Given the description of an element on the screen output the (x, y) to click on. 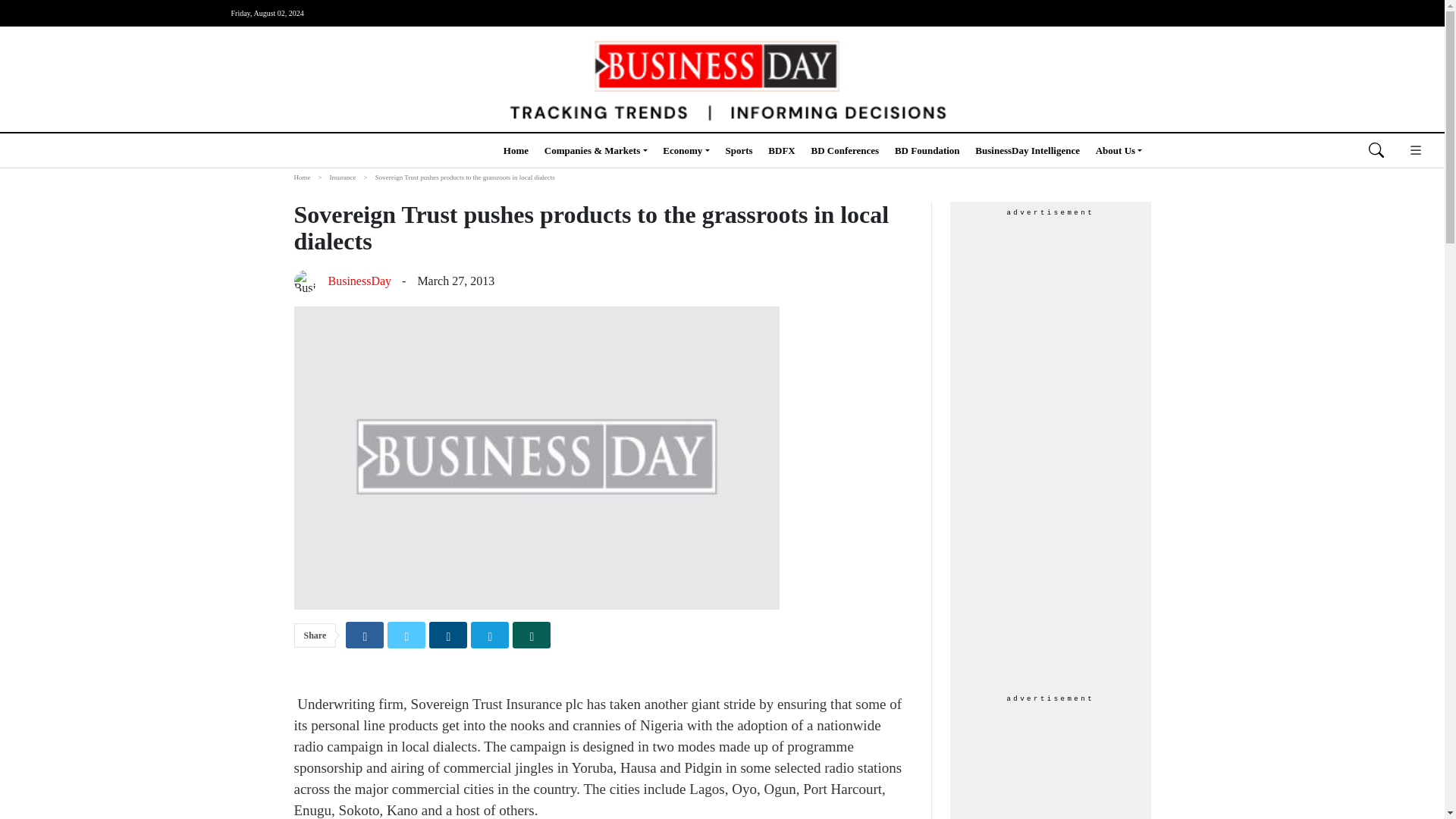
BD Foundation (927, 149)
About Us (1119, 149)
BD Conferences (844, 149)
BD Foundation (927, 149)
Economy (685, 149)
BD Conferences (844, 149)
BusinessDay Intelligence (1027, 149)
About Us (1119, 149)
Economy (685, 149)
BusinessDay Intelligence (1027, 149)
